Given the description of an element on the screen output the (x, y) to click on. 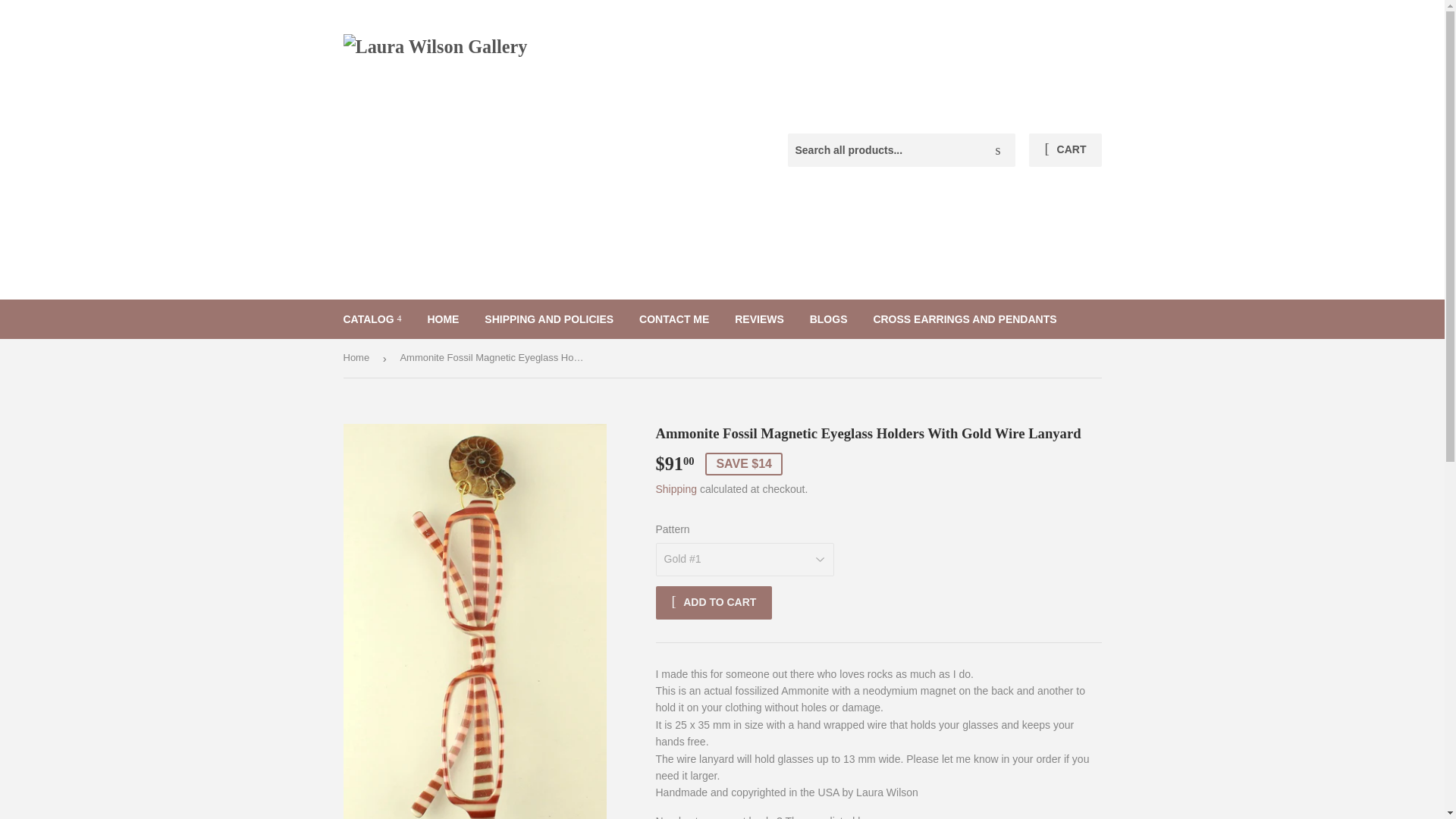
Search (997, 151)
CART (1064, 150)
CATALOG (372, 319)
